Given the description of an element on the screen output the (x, y) to click on. 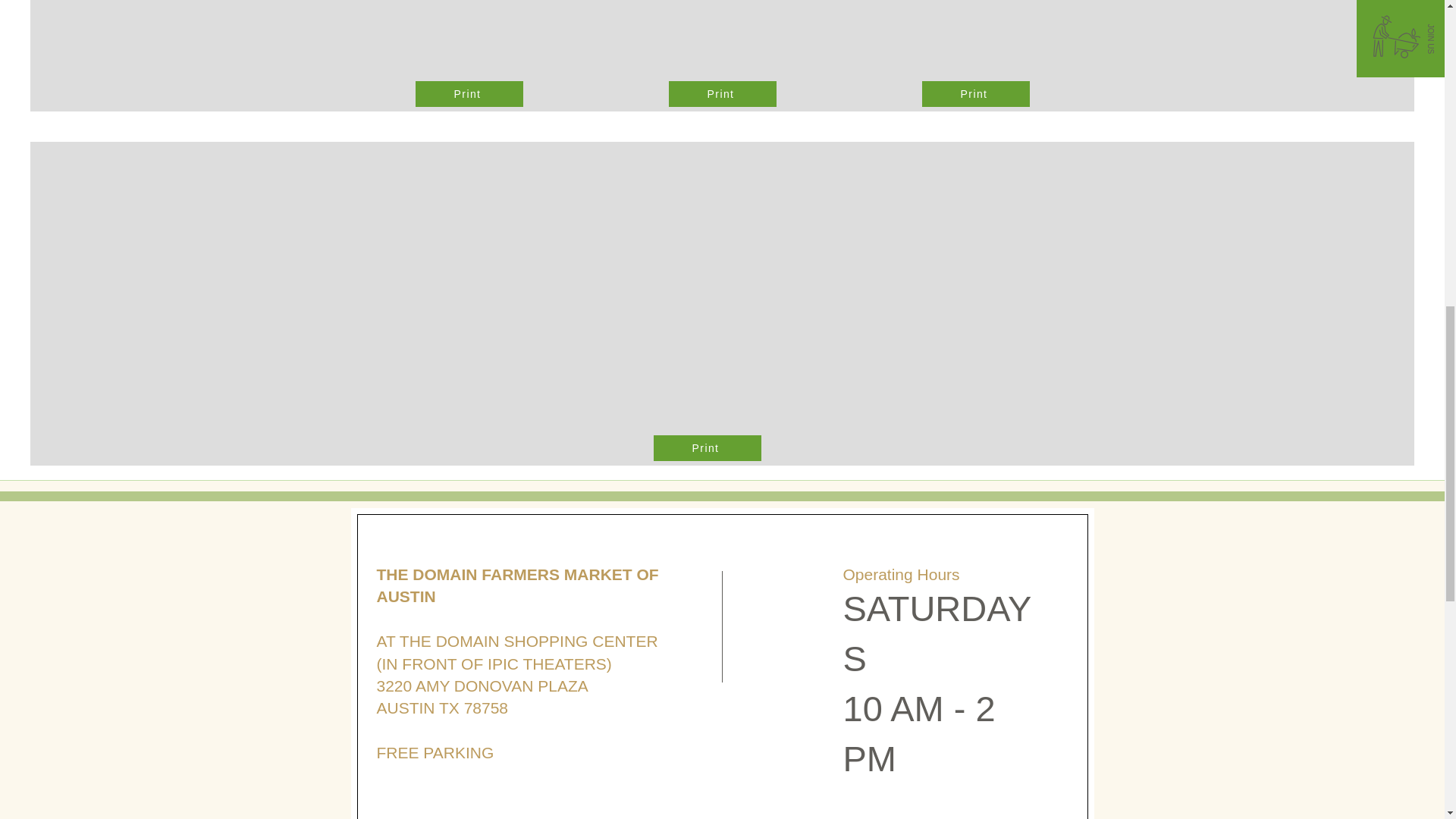
Print (975, 94)
Print (722, 94)
Print (468, 94)
Print (707, 447)
